Given the description of an element on the screen output the (x, y) to click on. 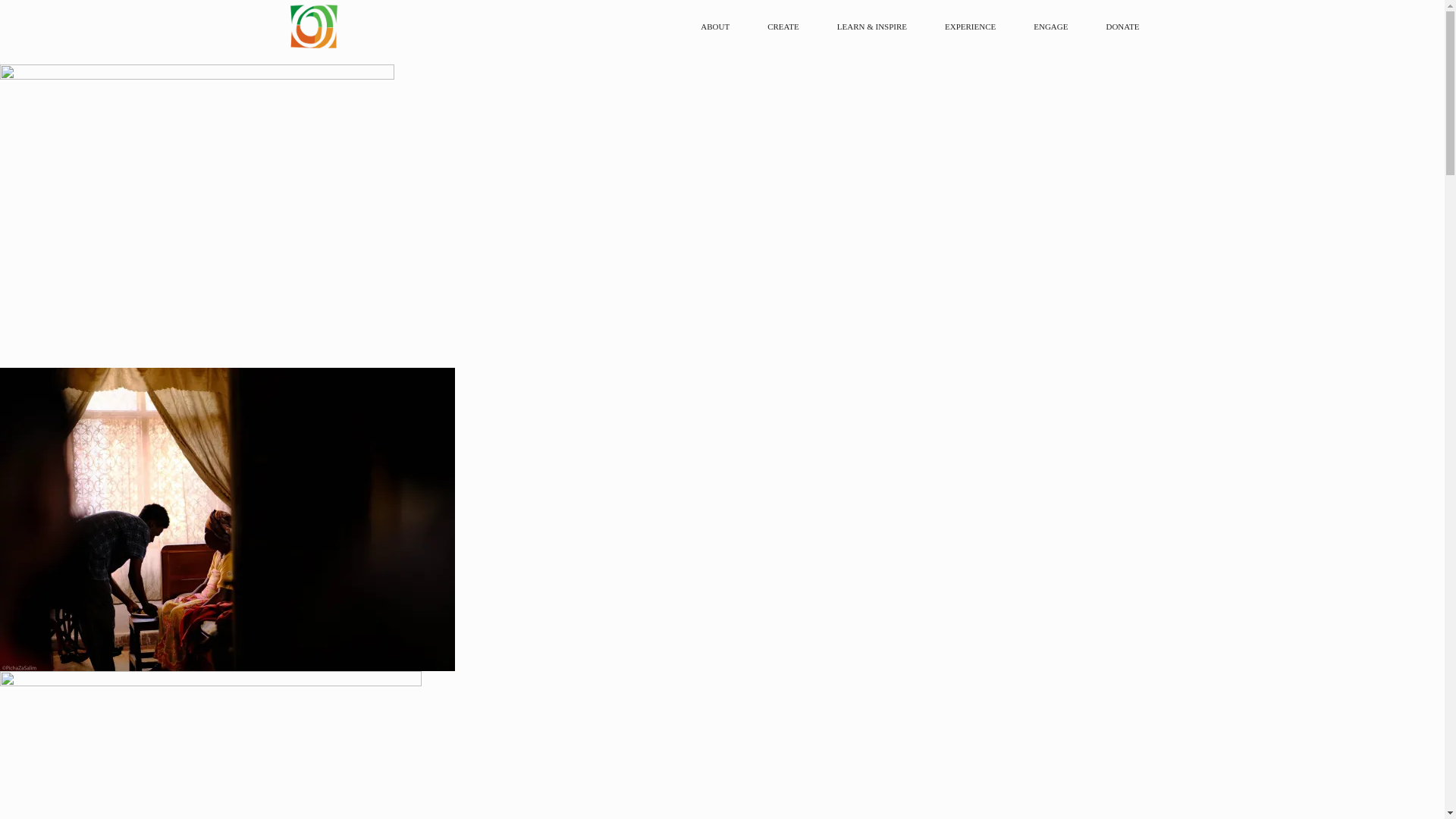
ENGAGE (1053, 26)
ABOUT (718, 26)
EXPERIENCE (973, 26)
DONATE (1122, 26)
CREATE (787, 26)
NAFASI ART SPACE (425, 26)
